Given the description of an element on the screen output the (x, y) to click on. 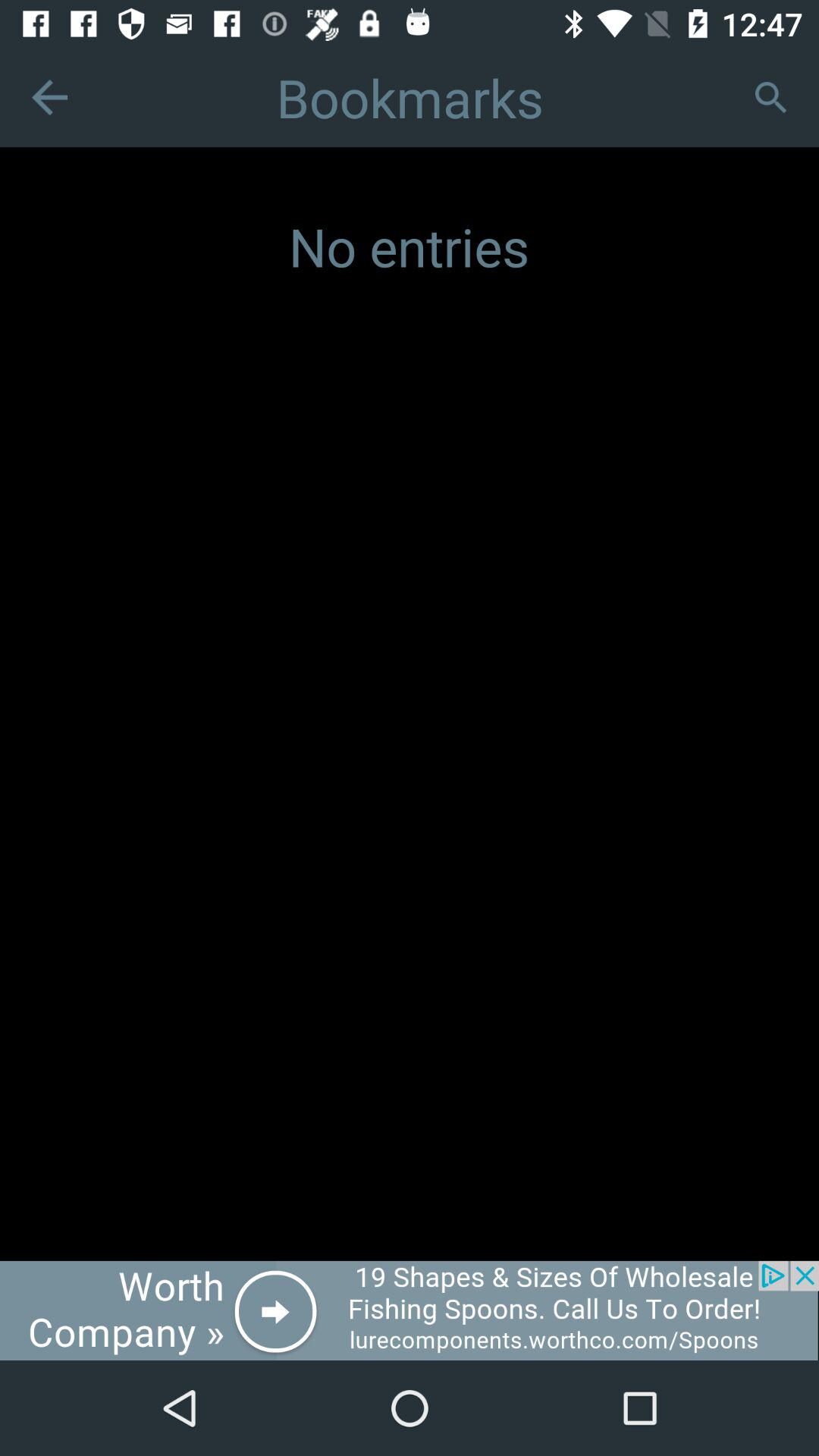
advertisement area (409, 1310)
